Given the description of an element on the screen output the (x, y) to click on. 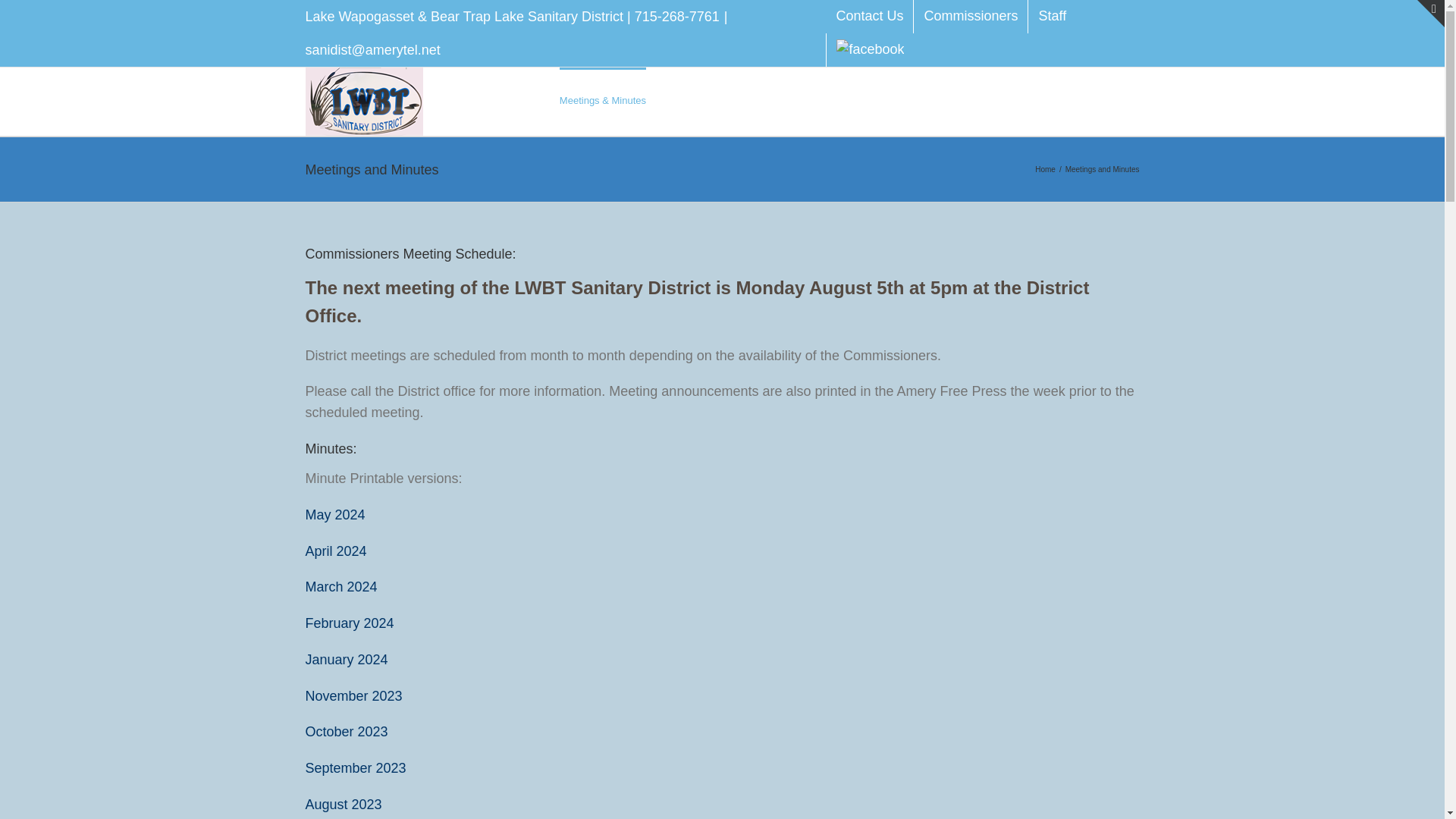
Lake Management (811, 98)
Staff (1051, 16)
715-268-7761 (676, 16)
Contact Us (868, 16)
Lake Stewardship (705, 98)
Commissioners (970, 16)
